Given the description of an element on the screen output the (x, y) to click on. 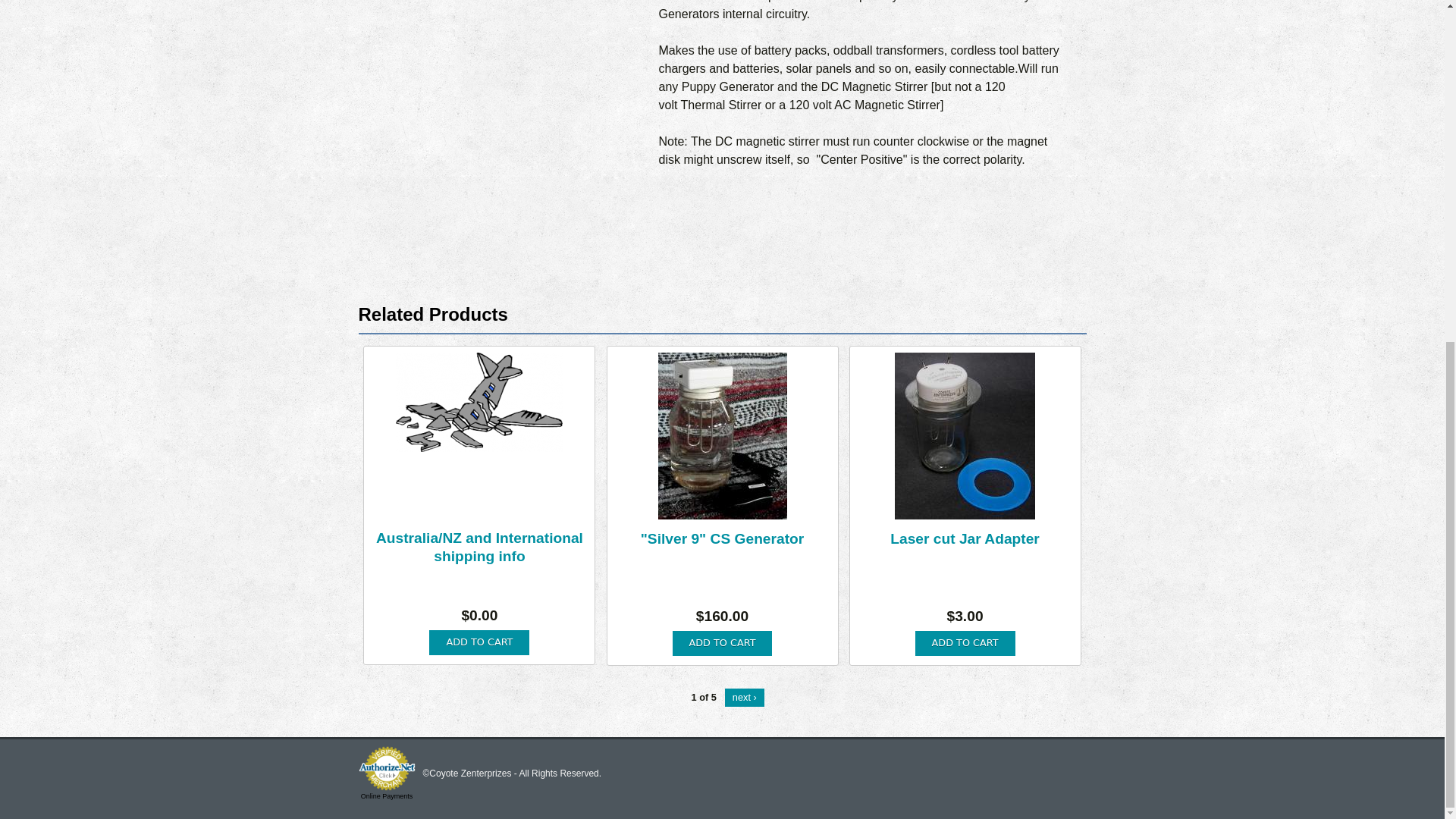
Laser cut Jar Adapter (964, 538)
Online Payments (387, 796)
Add to cart (479, 642)
Add to cart (479, 642)
Go to next page (744, 696)
"Silver 9" CS Generator (722, 538)
Add to cart (722, 643)
Add to cart (964, 643)
Add to cart (722, 643)
Add to cart (964, 643)
